Given the description of an element on the screen output the (x, y) to click on. 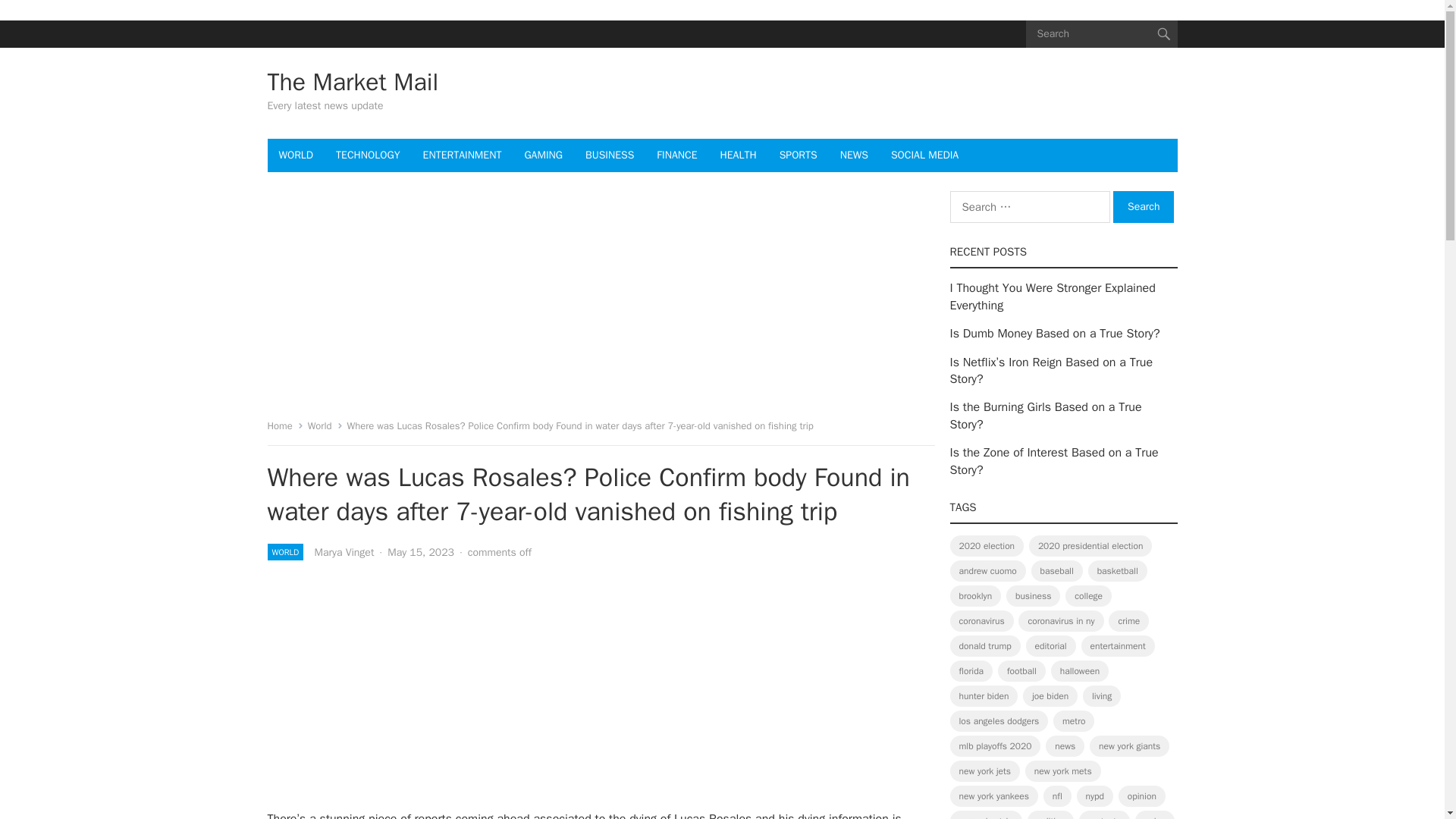
Posts by Marya Vinget (344, 552)
ENTERTAINMENT (462, 154)
SOCIAL MEDIA (924, 154)
SPORTS (798, 154)
Home (284, 425)
GAMING (542, 154)
BUSINESS (609, 154)
Search (1143, 206)
Marya Vinget (344, 552)
Search (1143, 206)
HEALTH (738, 154)
The Market Mail (352, 82)
World (324, 425)
WORLD (295, 154)
TECHNOLOGY (367, 154)
